Given the description of an element on the screen output the (x, y) to click on. 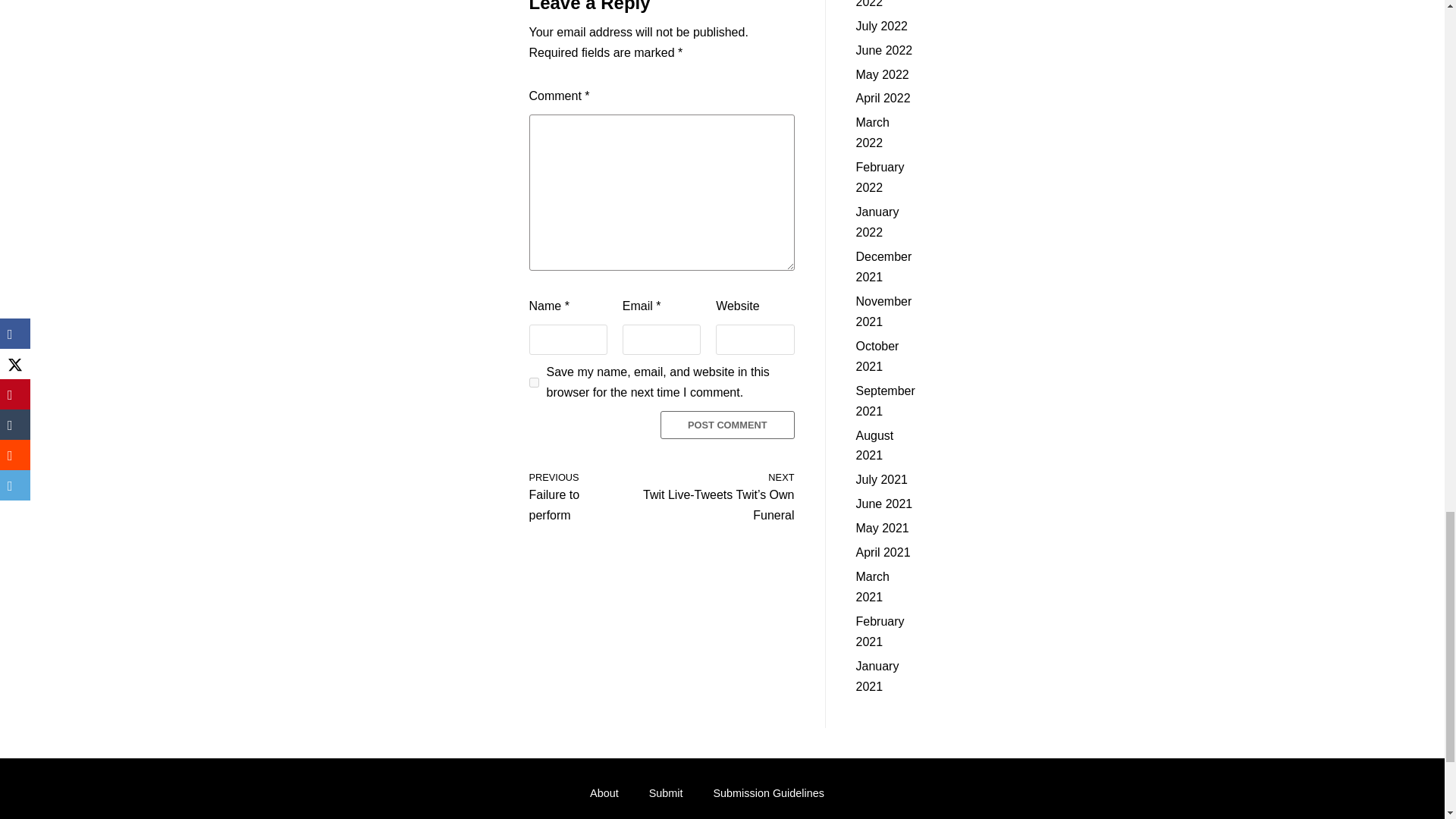
Post Comment (572, 495)
yes (727, 424)
Post Comment (533, 382)
